Given the description of an element on the screen output the (x, y) to click on. 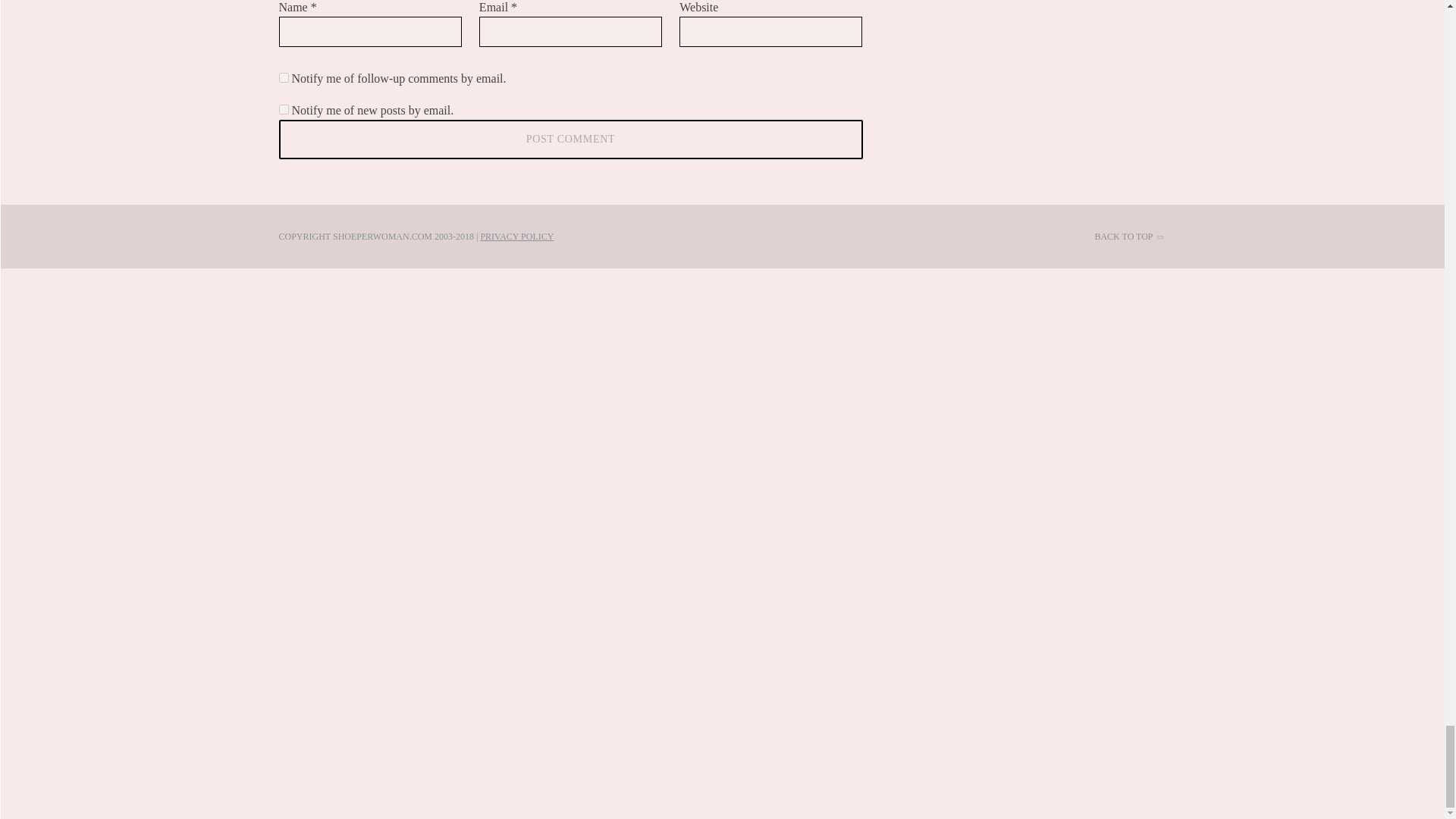
subscribe (283, 109)
Post Comment (571, 138)
subscribe (283, 77)
